Given the description of an element on the screen output the (x, y) to click on. 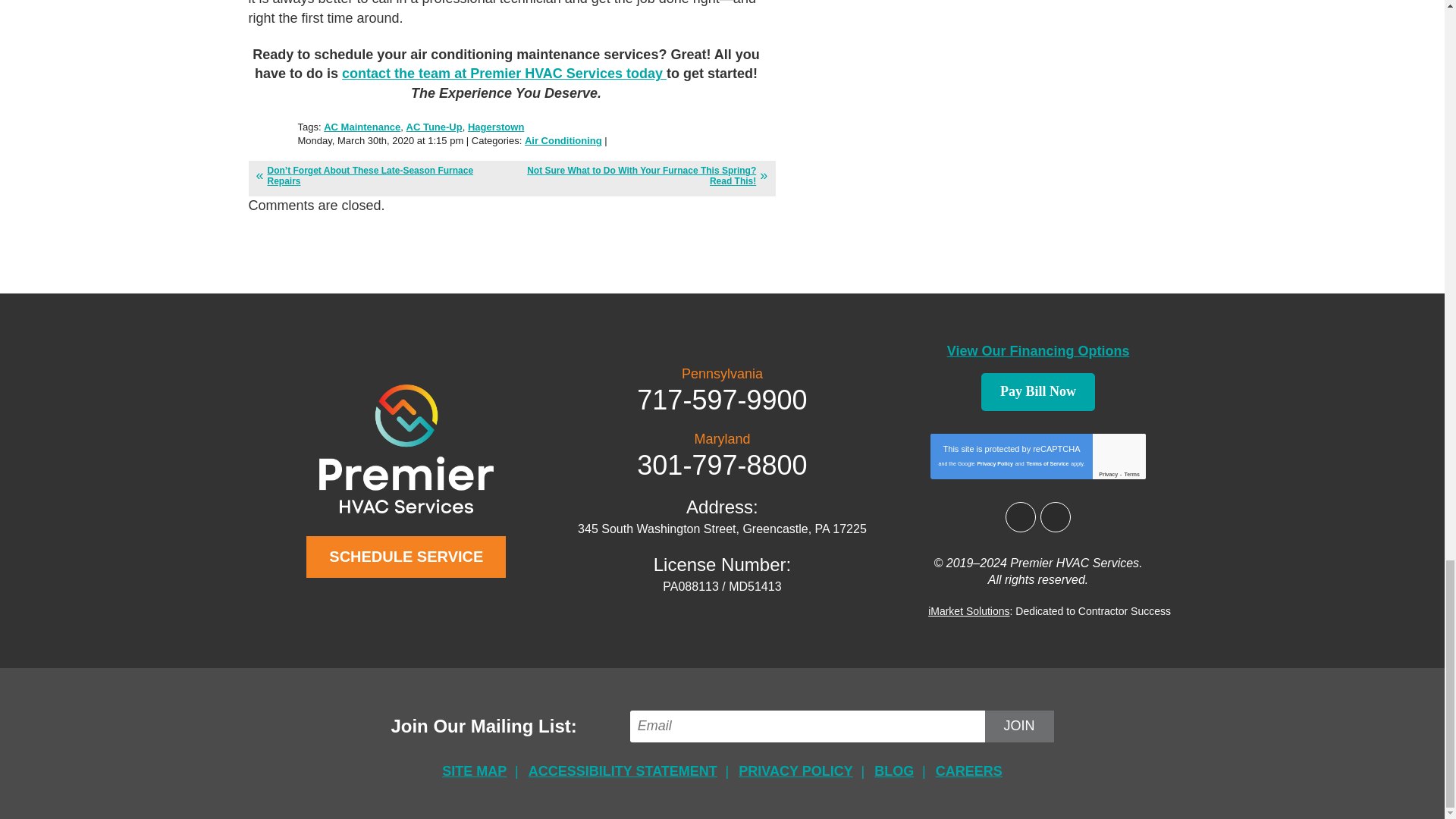
Premier HVAC Services on X (1055, 517)
Premier HVAC Services on Facebook (1020, 517)
Pay Bill Now (1037, 392)
